Given the description of an element on the screen output the (x, y) to click on. 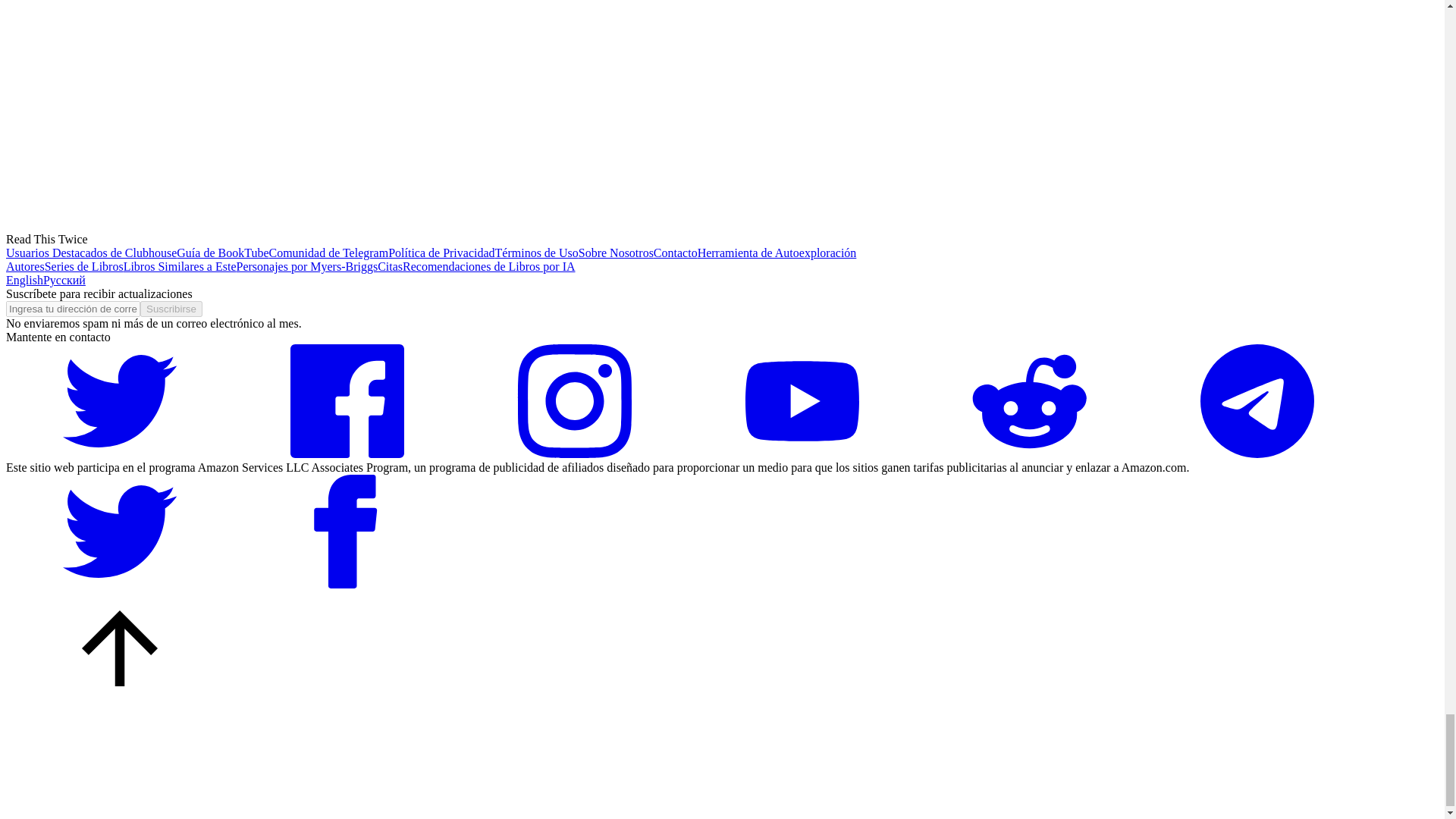
Read This Twice on Twitter (118, 453)
Read This Twice on Instagram (574, 453)
Read This Twice on Reddit (1028, 453)
Read This Twice on Facebook (346, 453)
Read This Twice on Youtube (801, 453)
